Given the description of an element on the screen output the (x, y) to click on. 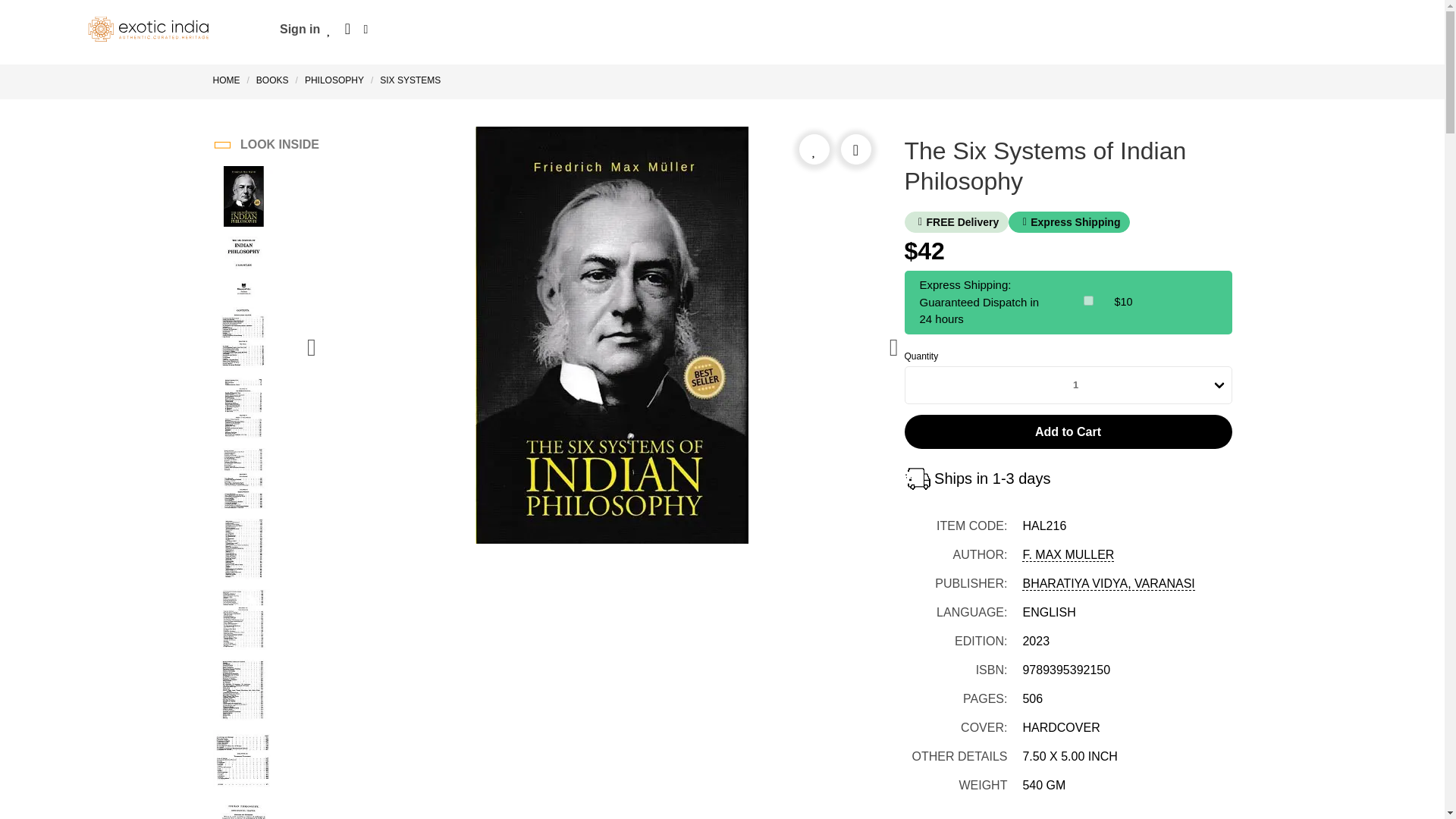
The Six Systems of Indian Philosophy (242, 198)
Sign in (299, 29)
Six Systems (409, 79)
The Six Systems of Indian Philosophy (242, 269)
Philosophy (334, 79)
The Six Systems of Indian Philosophy (242, 550)
Books (271, 79)
Sign in (299, 29)
The Six Systems of Indian Philosophy (242, 339)
HOME (229, 79)
